Given the description of an element on the screen output the (x, y) to click on. 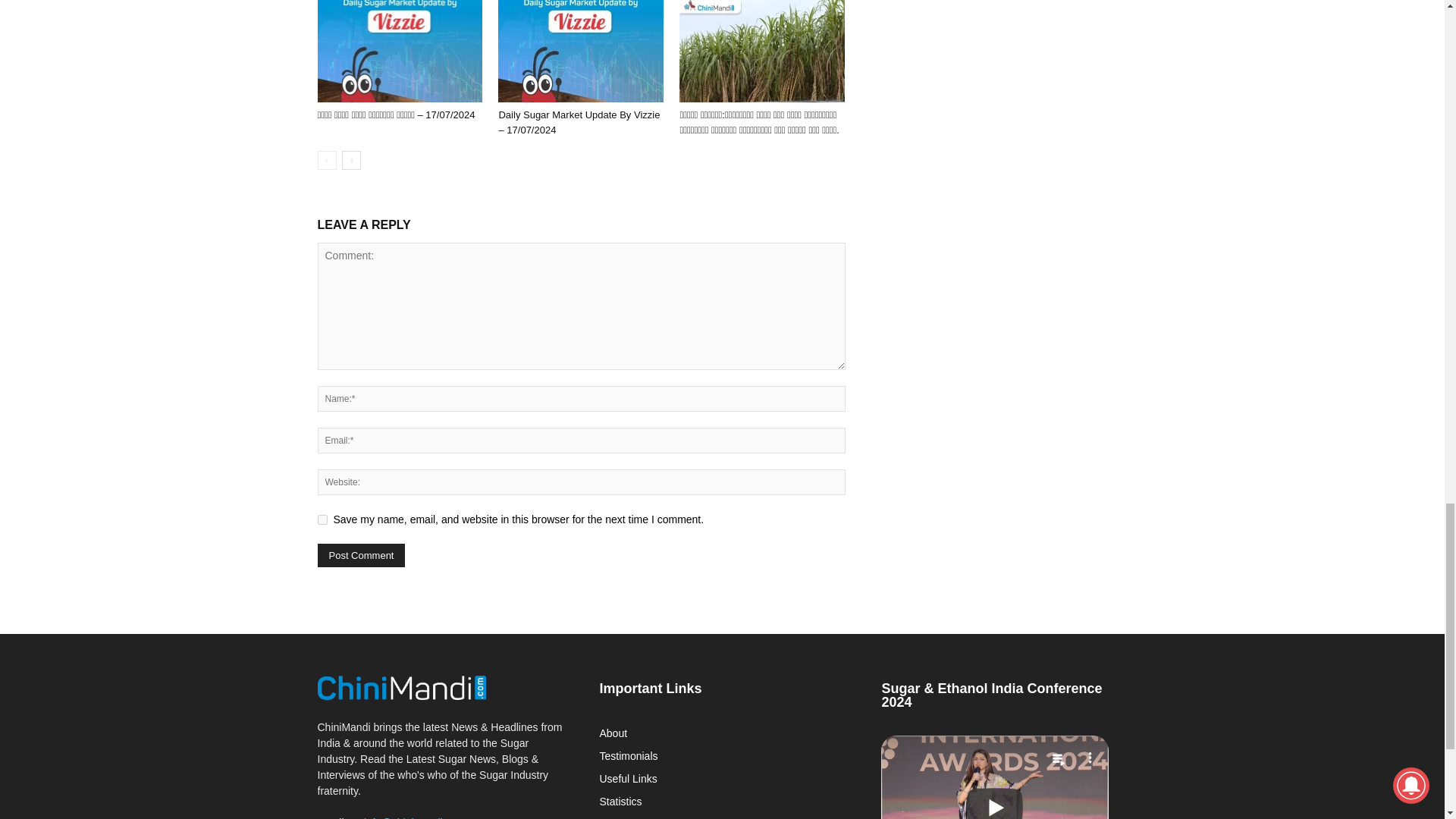
Post Comment (360, 555)
yes (321, 519)
